Given the description of an element on the screen output the (x, y) to click on. 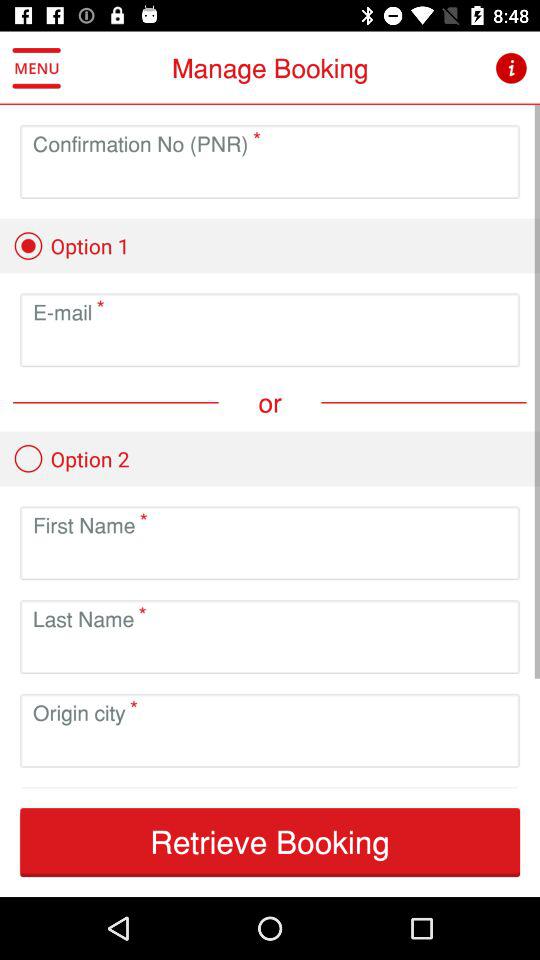
flip until the option 2 item (71, 458)
